Given the description of an element on the screen output the (x, y) to click on. 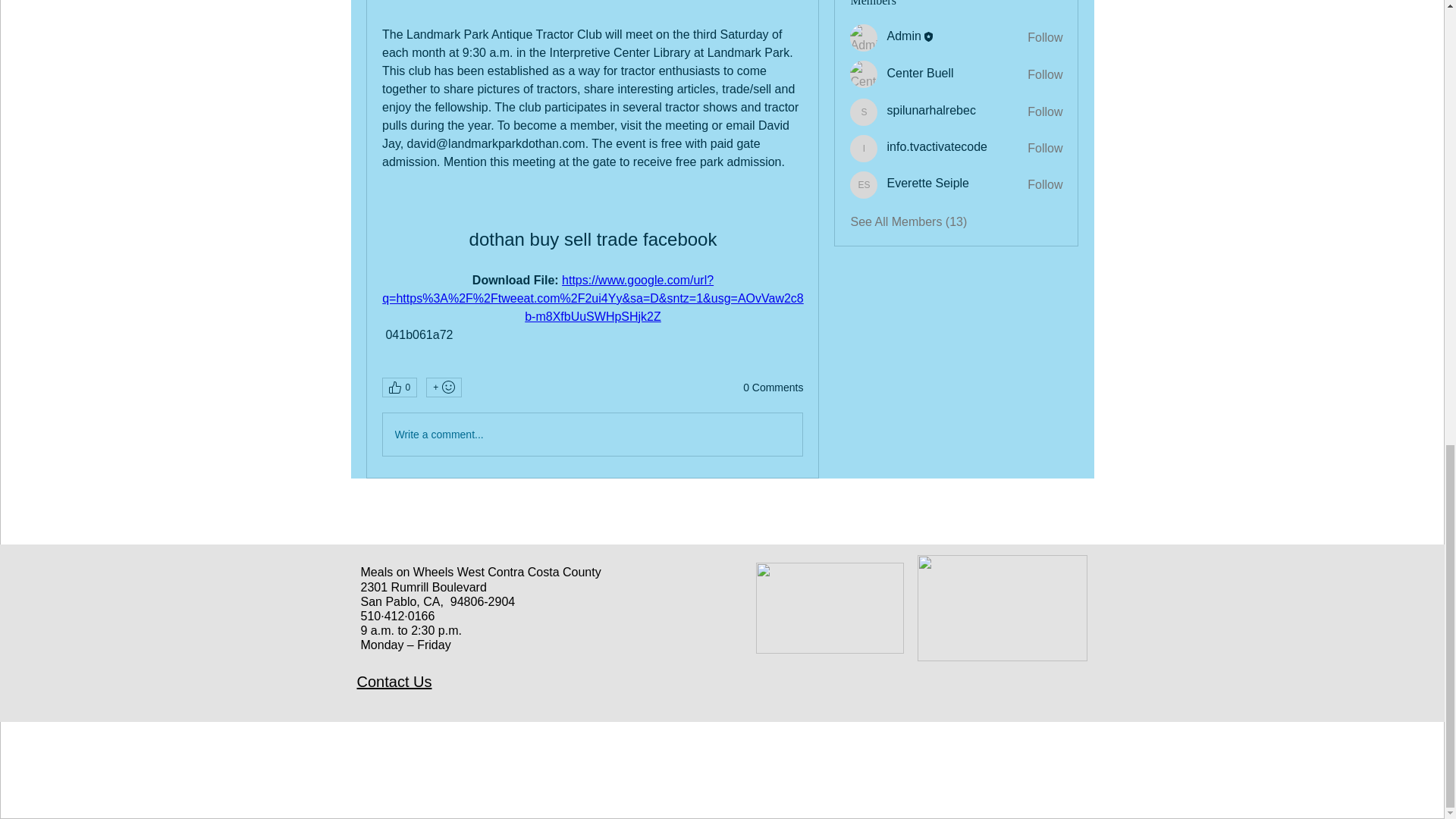
Follow (1044, 148)
Everette Seiple (863, 185)
Follow (1044, 184)
MoW California Member (828, 607)
0 Comments (772, 387)
Everette Seiple (927, 182)
spilunarhalrebec (863, 112)
Contact Us (394, 680)
Admin (863, 37)
spilunarhalrebec (930, 110)
Follow (1044, 37)
Write a comment... (591, 434)
info.tvactivatecode (863, 148)
Follow (1044, 74)
